Given the description of an element on the screen output the (x, y) to click on. 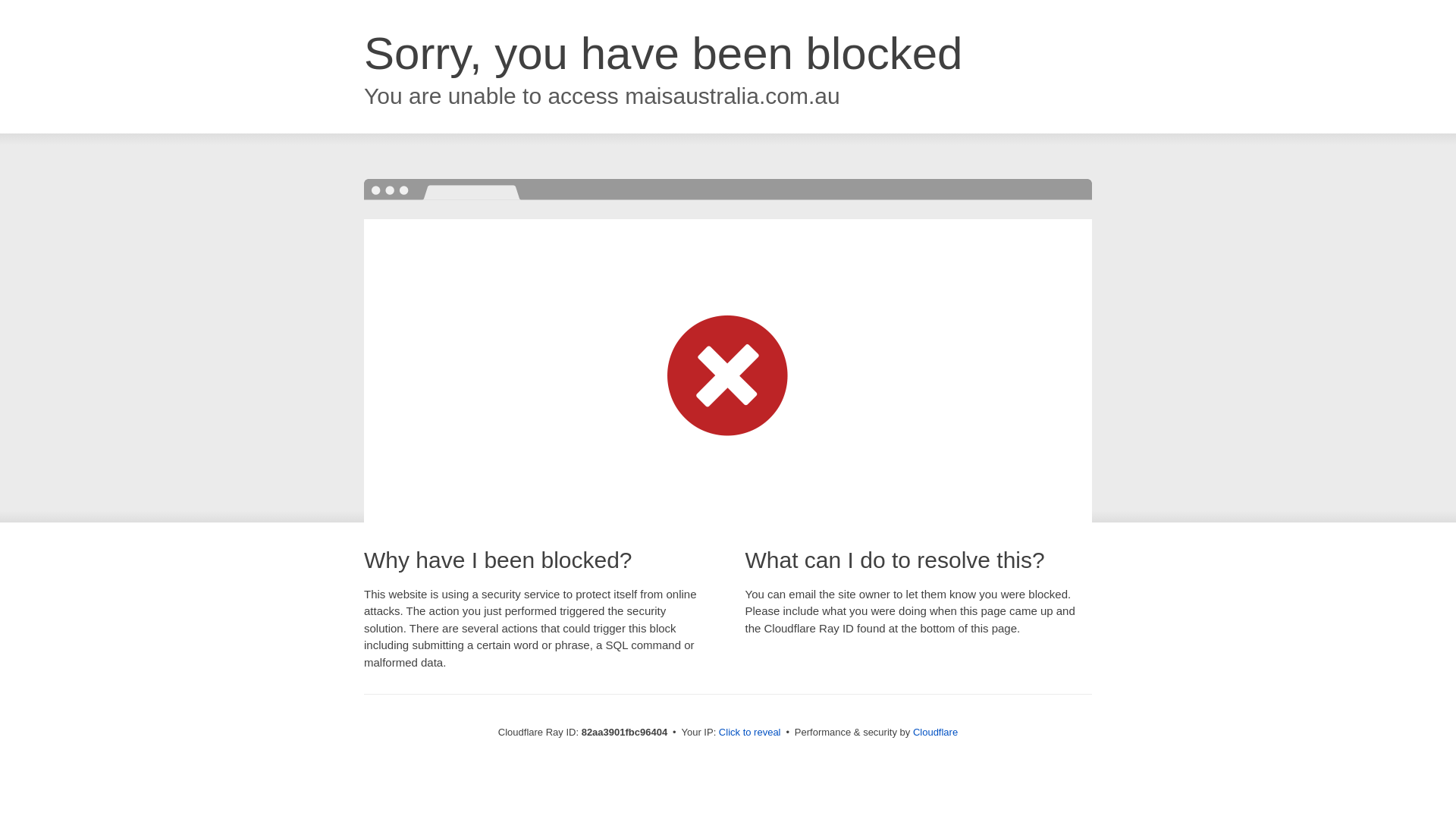
Click to reveal Element type: text (749, 732)
Cloudflare Element type: text (935, 731)
